Given the description of an element on the screen output the (x, y) to click on. 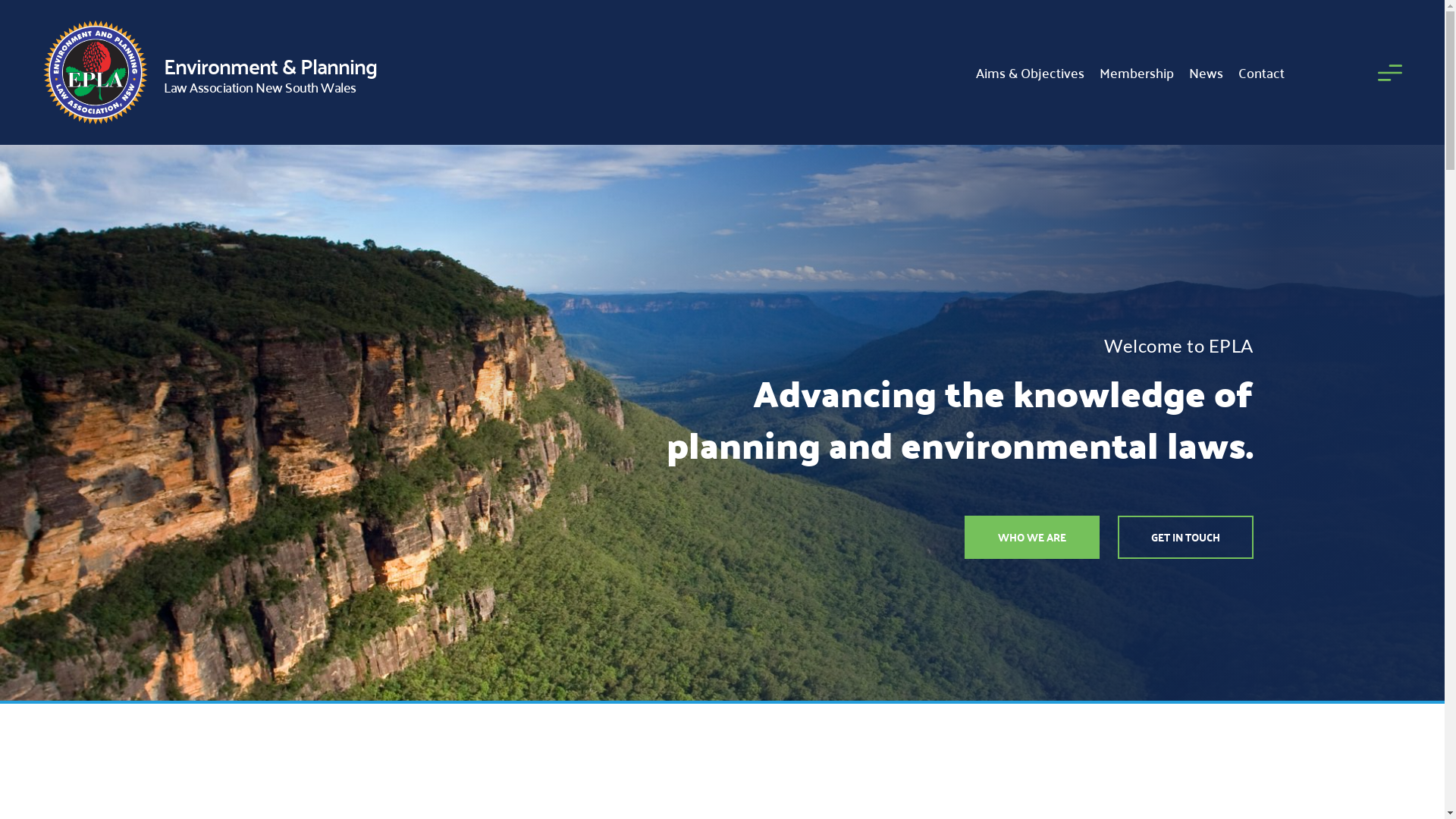
Contact Element type: text (1261, 72)
Aims & Objectives Element type: text (1029, 72)
Membership Element type: text (1136, 72)
GET IN TOUCH Element type: text (1185, 536)
WHO WE ARE Element type: text (1031, 536)
News Element type: text (1206, 72)
